Given the description of an element on the screen output the (x, y) to click on. 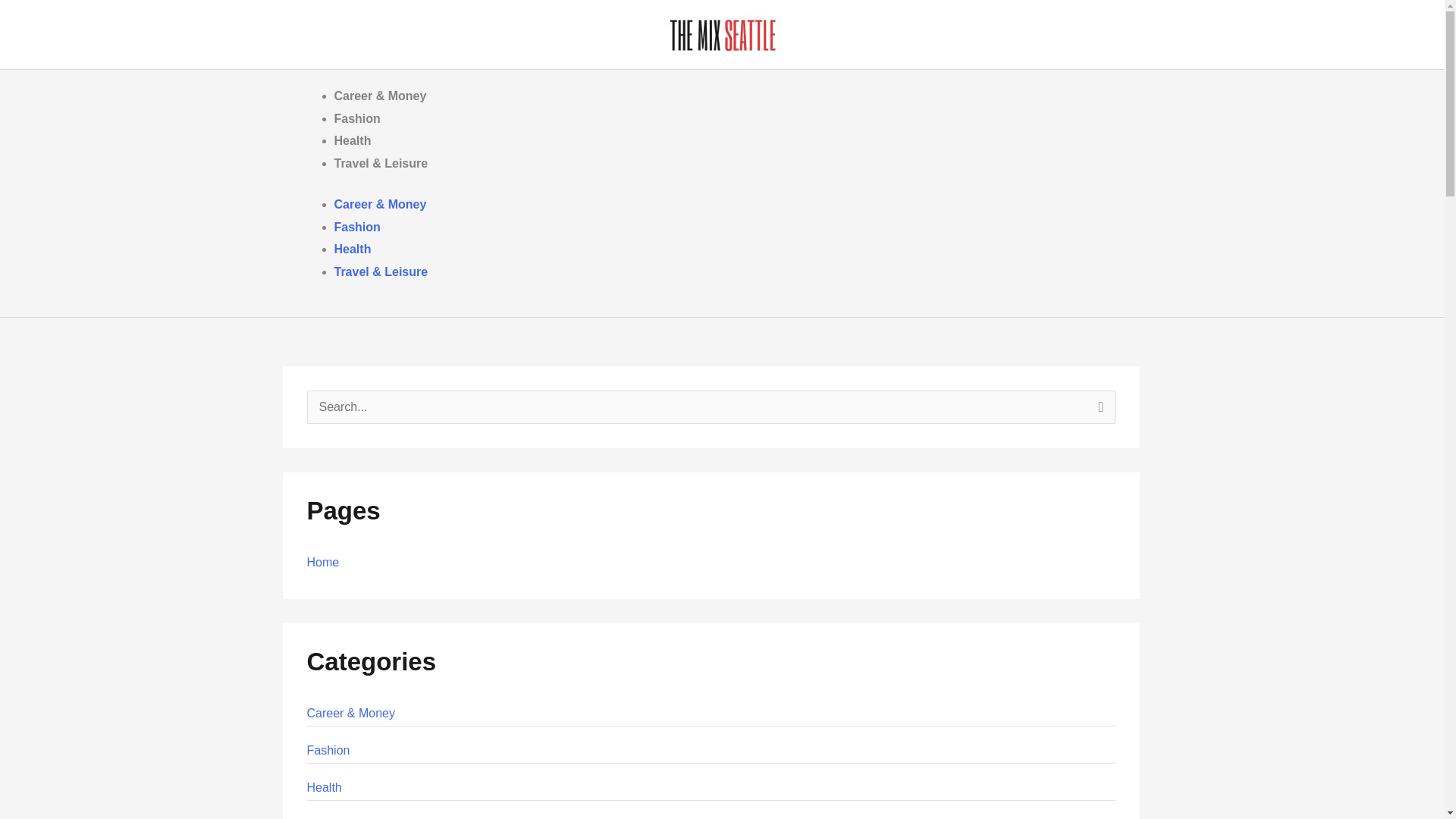
Home (322, 562)
Fashion (327, 749)
Health (352, 140)
Health (322, 787)
Fashion (356, 226)
Health (352, 248)
Fashion (356, 118)
